Given the description of an element on the screen output the (x, y) to click on. 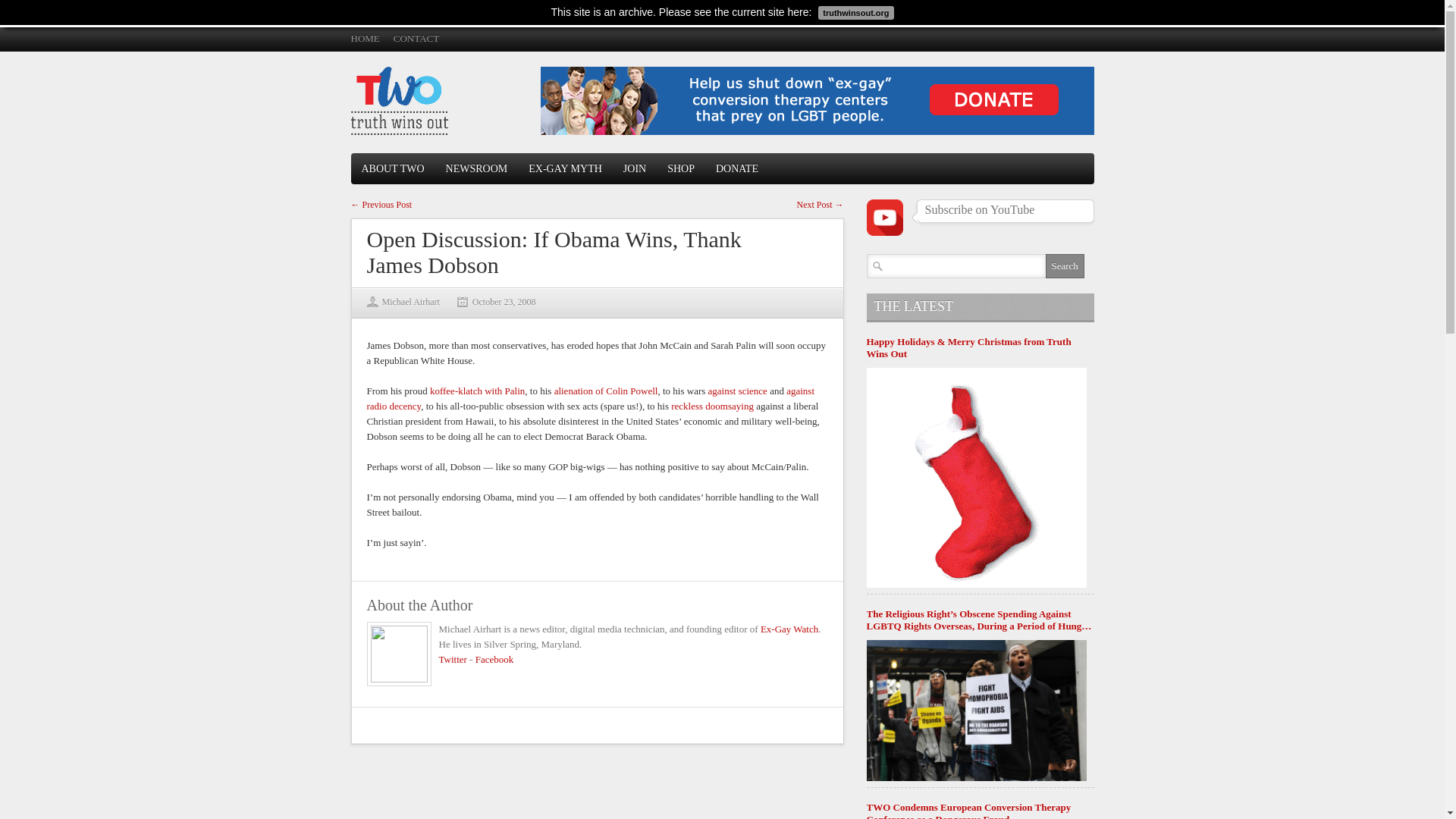
reckless doomsaying (712, 405)
alienation of Colin Powell (606, 390)
Posts by Michael Airhart (410, 301)
Twitter (451, 659)
Michael Airhart (410, 301)
HOME (364, 38)
CONTACT (416, 38)
SHOP (680, 168)
Search (1064, 265)
Search (1064, 265)
JOIN (634, 168)
koffee-klatch with Palin (476, 390)
Ex-Gay Watch (789, 628)
against science (737, 390)
truthwinsout.org (853, 11)
